Given the description of an element on the screen output the (x, y) to click on. 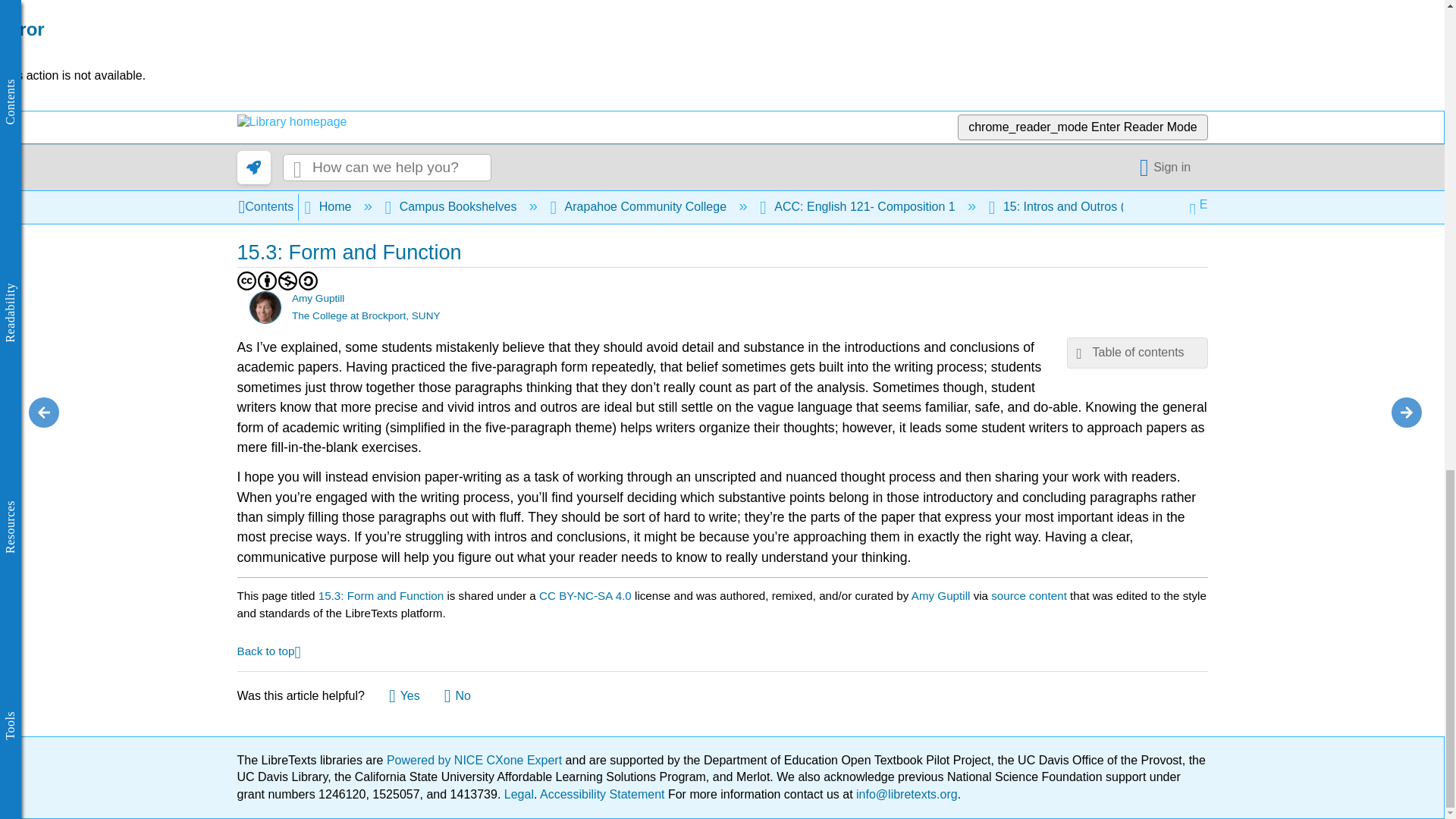
Amy Guptill (265, 306)
Jump back to top of this article (267, 650)
BY (267, 280)
CC (246, 280)
SA (307, 280)
Single Sign-On (1167, 167)
NC (288, 280)
